Given the description of an element on the screen output the (x, y) to click on. 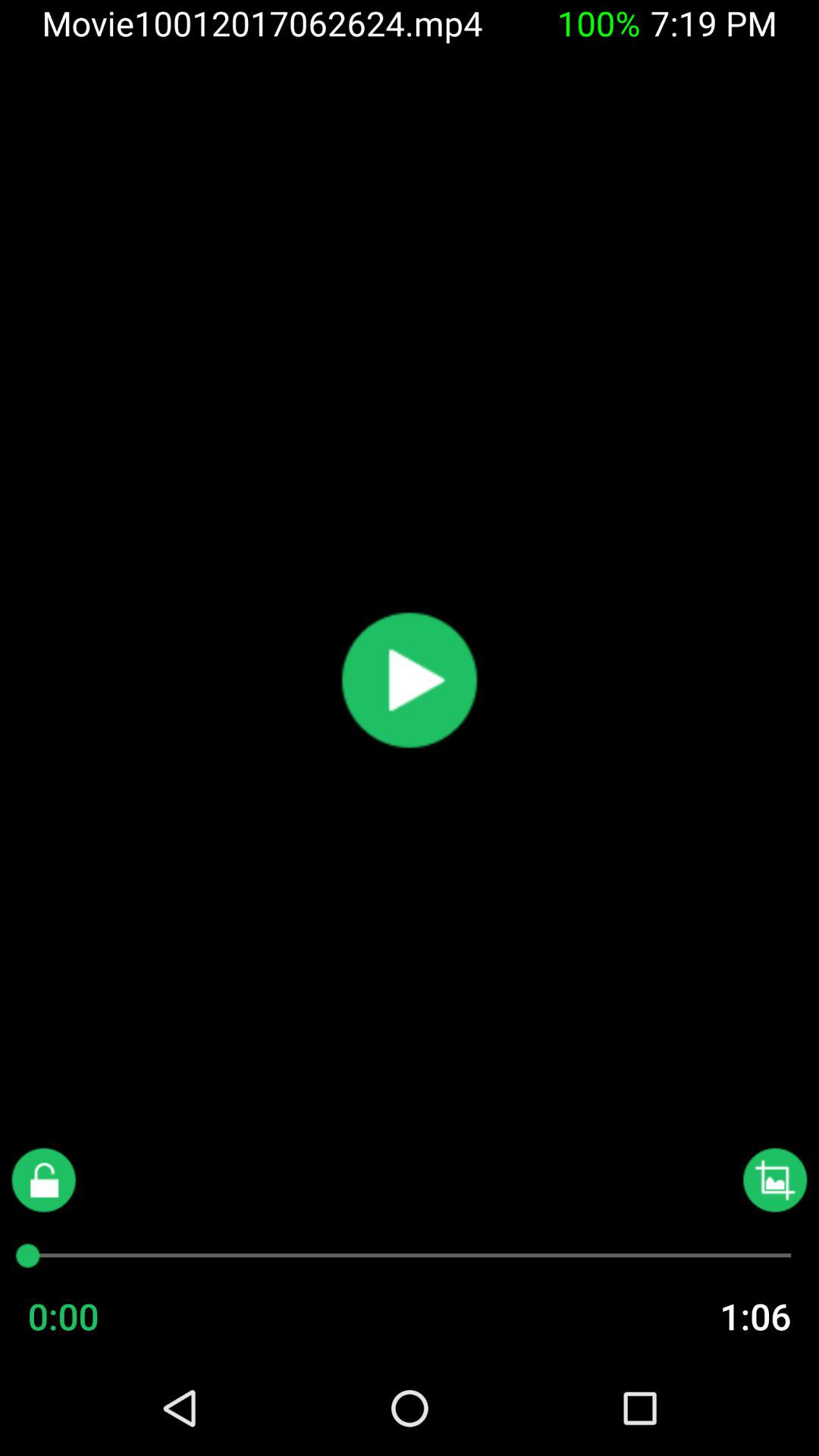
play and pause button (409, 679)
